Given the description of an element on the screen output the (x, y) to click on. 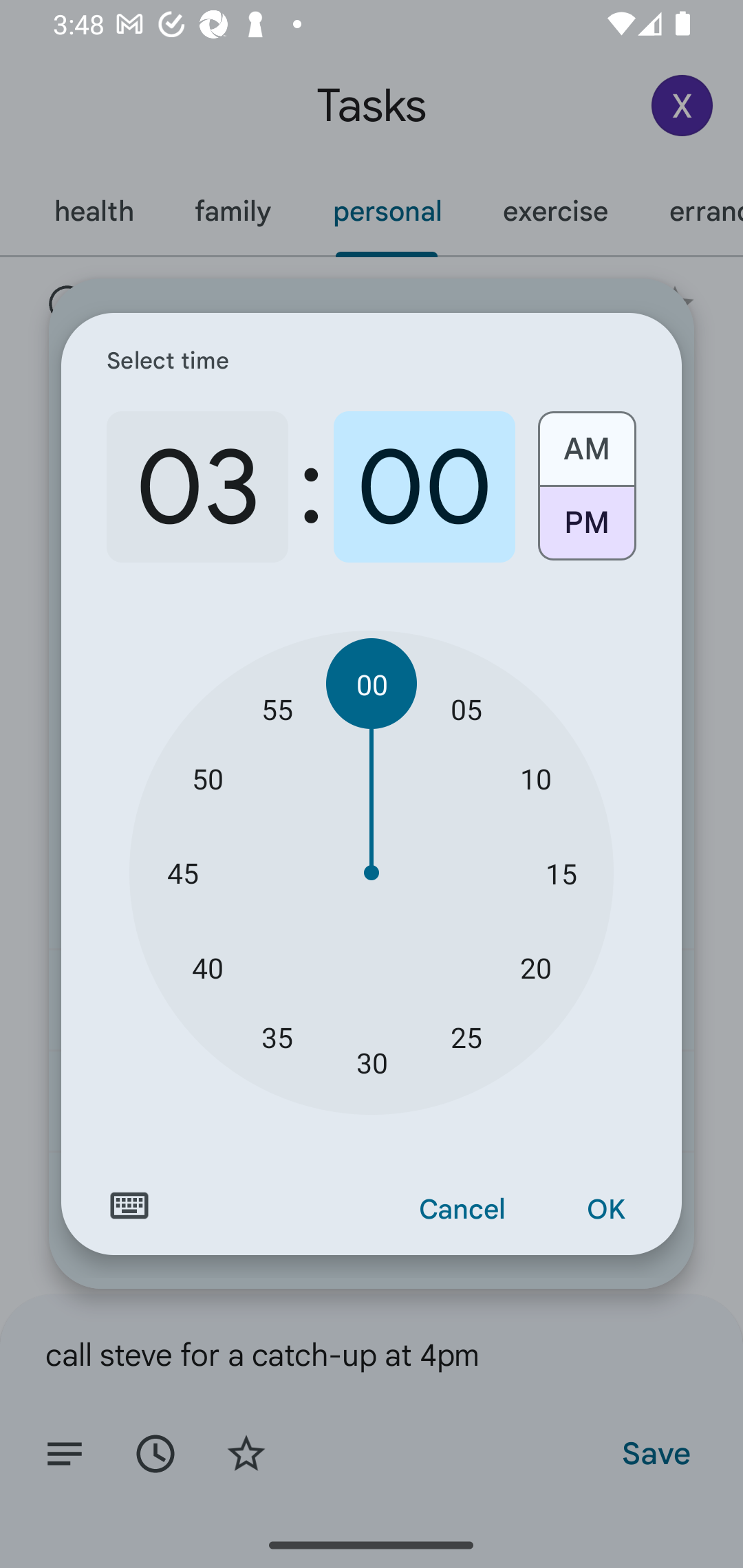
AM (586, 441)
03 3 o'clock (197, 486)
00 0 minutes (424, 486)
PM (586, 529)
00 00 minutes (371, 683)
55 55 minutes (276, 708)
05 05 minutes (466, 708)
50 50 minutes (207, 778)
10 10 minutes (535, 778)
45 45 minutes (182, 872)
15 15 minutes (561, 872)
40 40 minutes (207, 966)
20 20 minutes (535, 966)
35 35 minutes (276, 1035)
25 25 minutes (466, 1035)
30 30 minutes (371, 1062)
Switch to text input mode for the time input. (128, 1205)
Cancel (462, 1209)
OK (605, 1209)
